Given the description of an element on the screen output the (x, y) to click on. 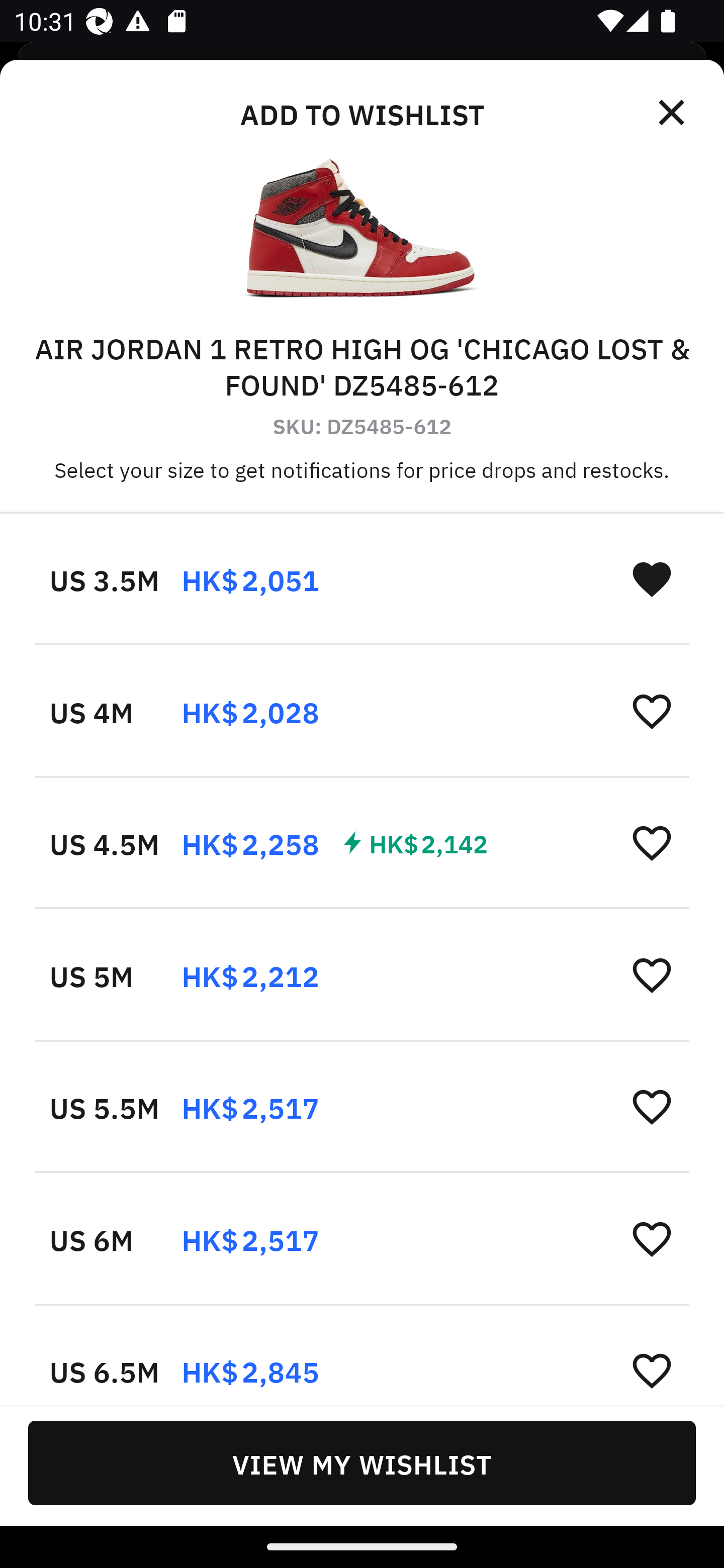
 (672, 112)
󰋑 (651, 578)
󰋕 (651, 710)
󰋕 (651, 842)
󰋕 (651, 974)
󰋕 (651, 1105)
󰋕 (651, 1237)
󰋕 (651, 1369)
VIEW MY WISHLIST (361, 1462)
